Given the description of an element on the screen output the (x, y) to click on. 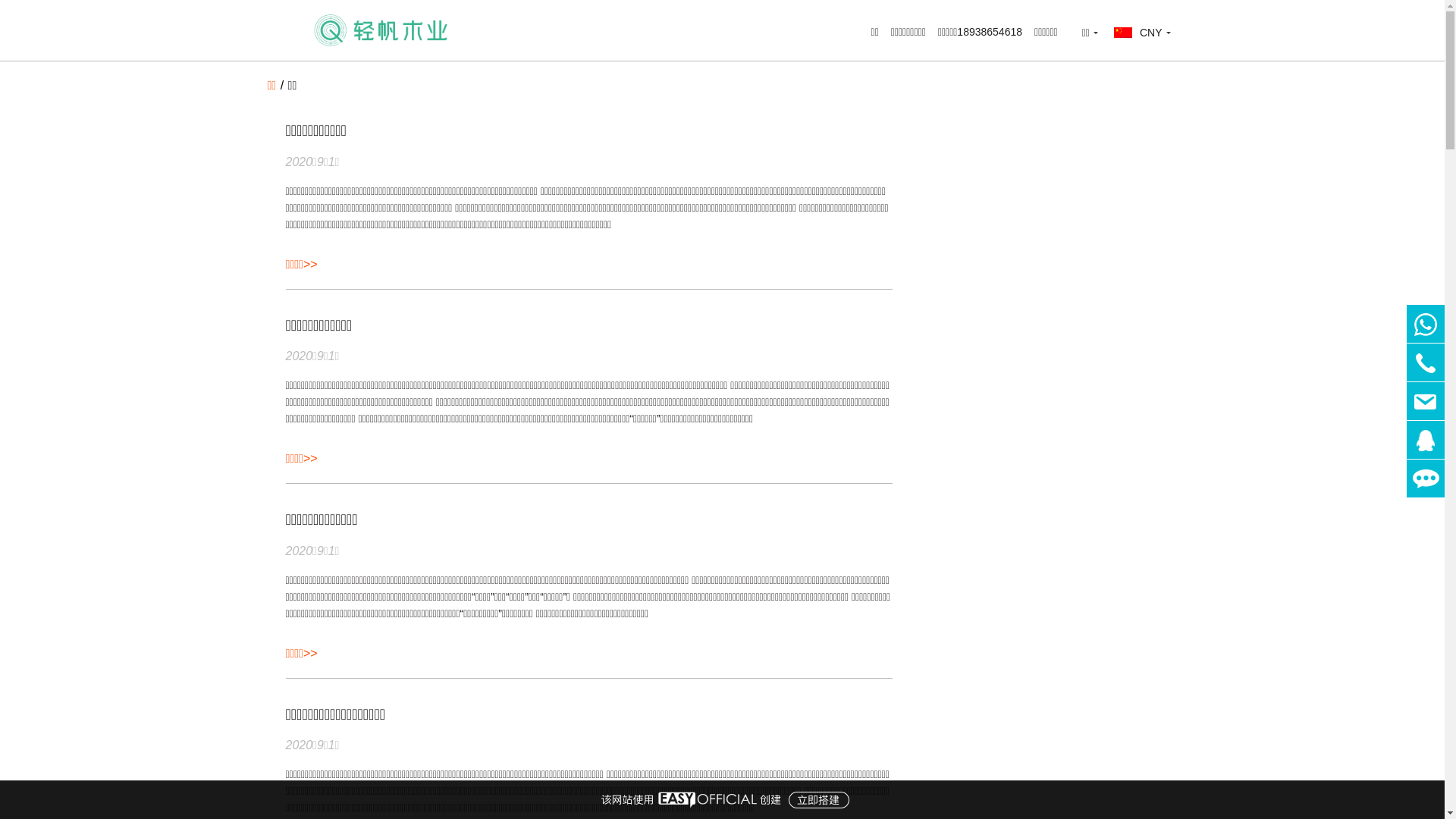
CNY Element type: text (1141, 32)
